Given the description of an element on the screen output the (x, y) to click on. 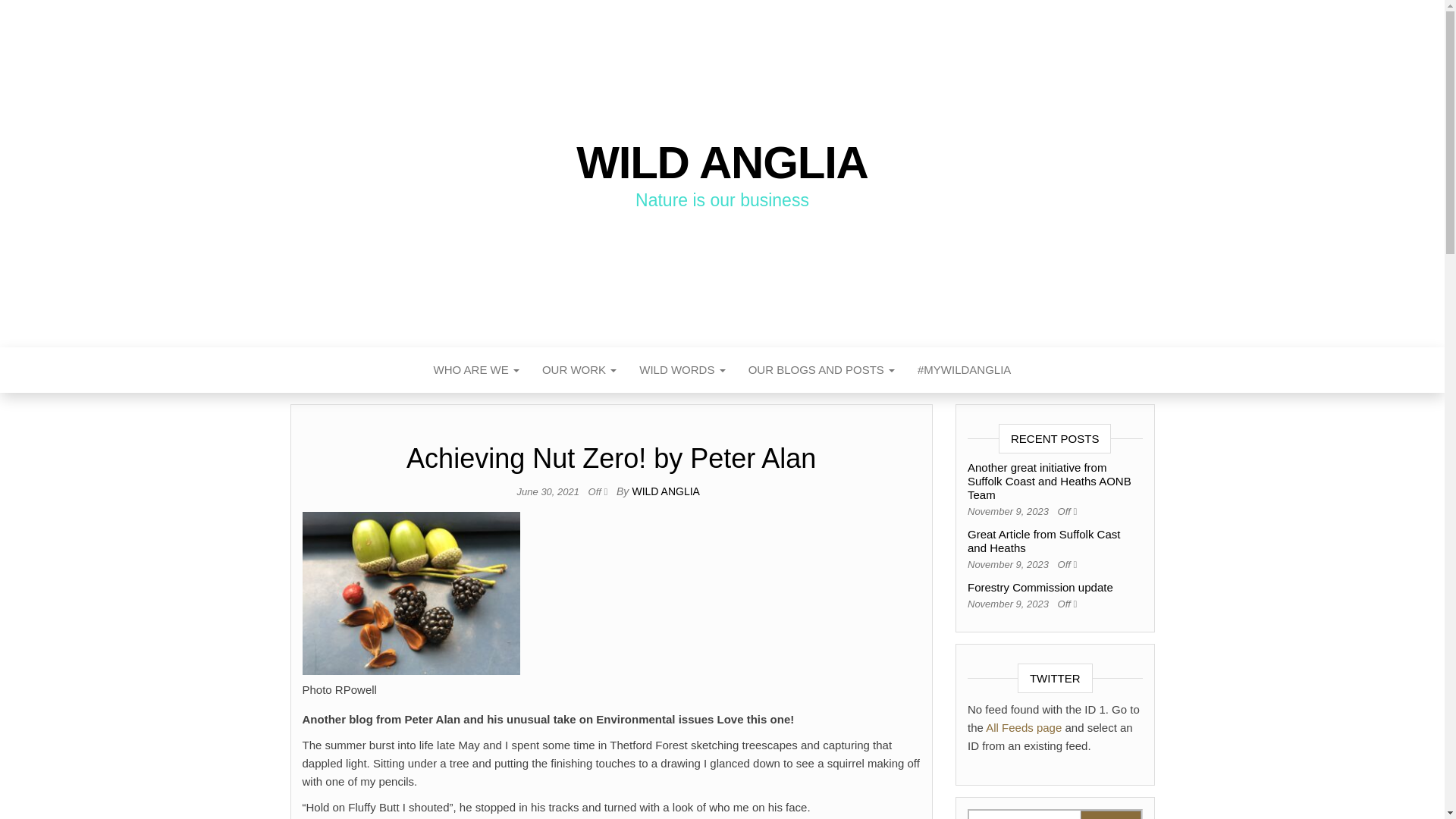
Wild Words (681, 370)
Forestry Commission update (1040, 586)
Search (1110, 814)
Our Work (579, 370)
WHO ARE WE (476, 370)
OUR WORK (579, 370)
WILD WORDS (681, 370)
WILD ANGLIA (664, 491)
All Feeds page (1023, 727)
WILD ANGLIA (721, 162)
